Given the description of an element on the screen output the (x, y) to click on. 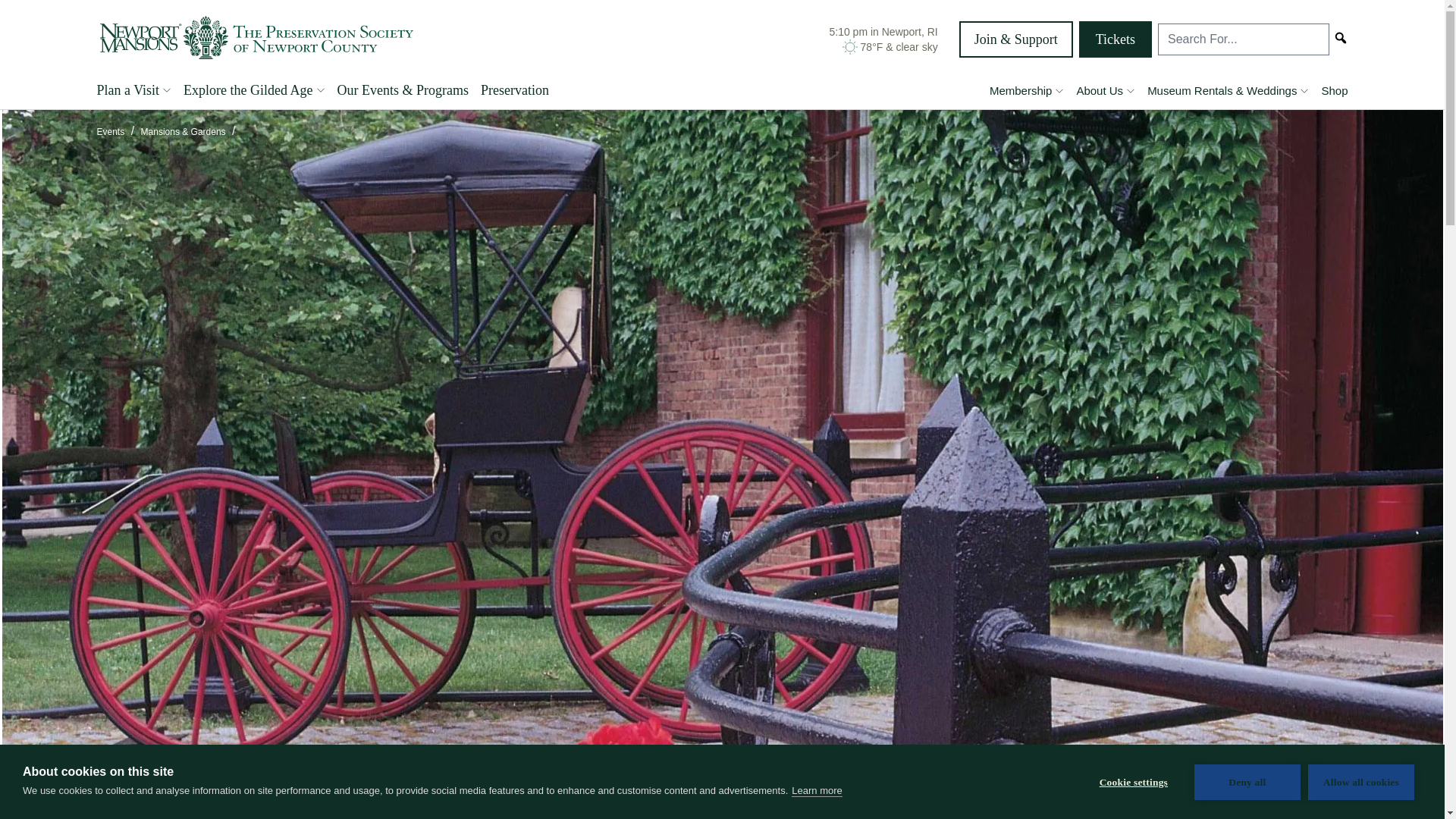
Learn more (816, 794)
Allow all cookies (1360, 782)
Cookie settings (1133, 784)
Search Form (1243, 39)
Plan a Visit (134, 94)
Explore the Gilded Age (253, 94)
Deny all (1246, 782)
Tickets (1114, 39)
